Given the description of an element on the screen output the (x, y) to click on. 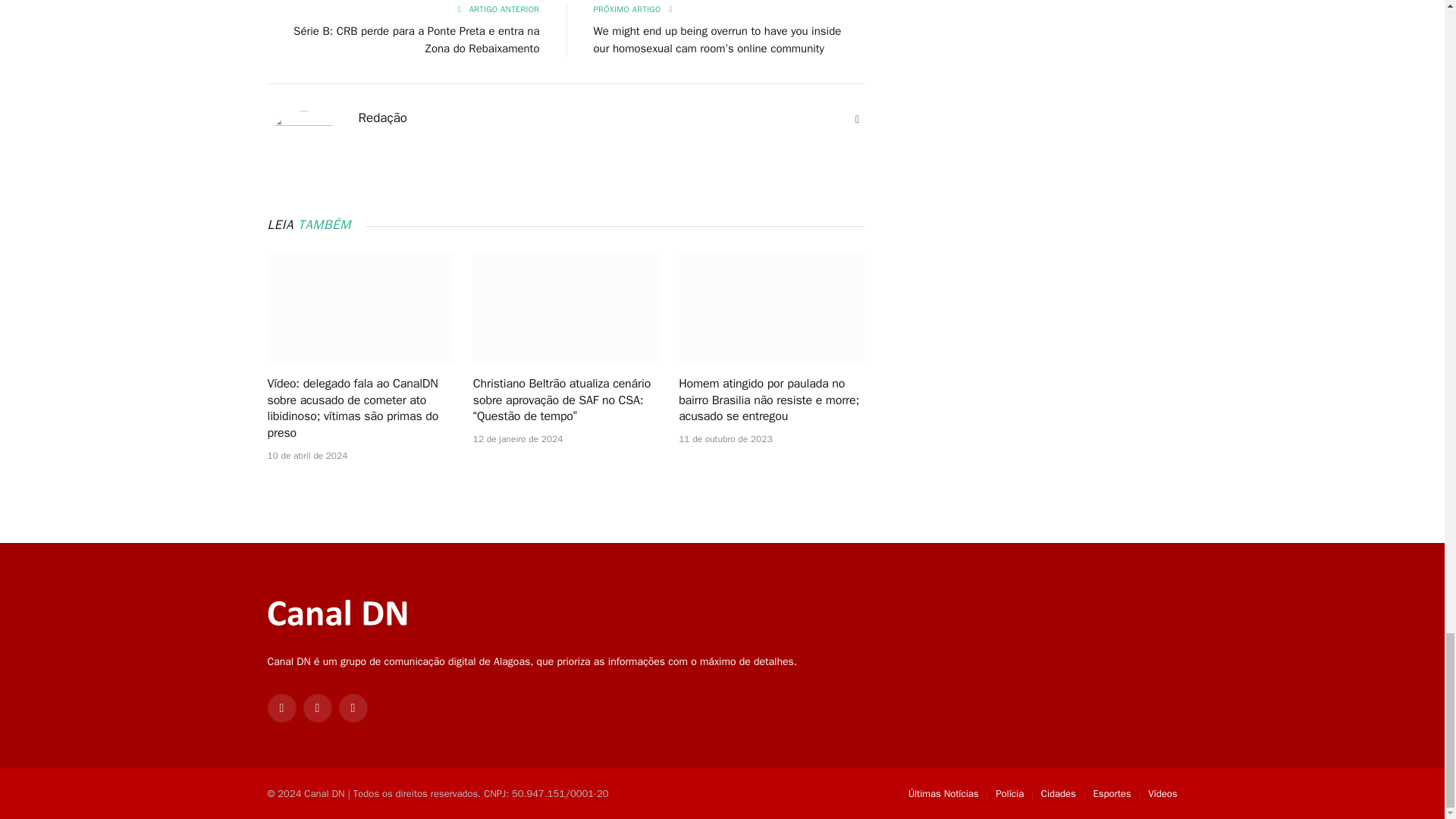
Website (856, 119)
